Given the description of an element on the screen output the (x, y) to click on. 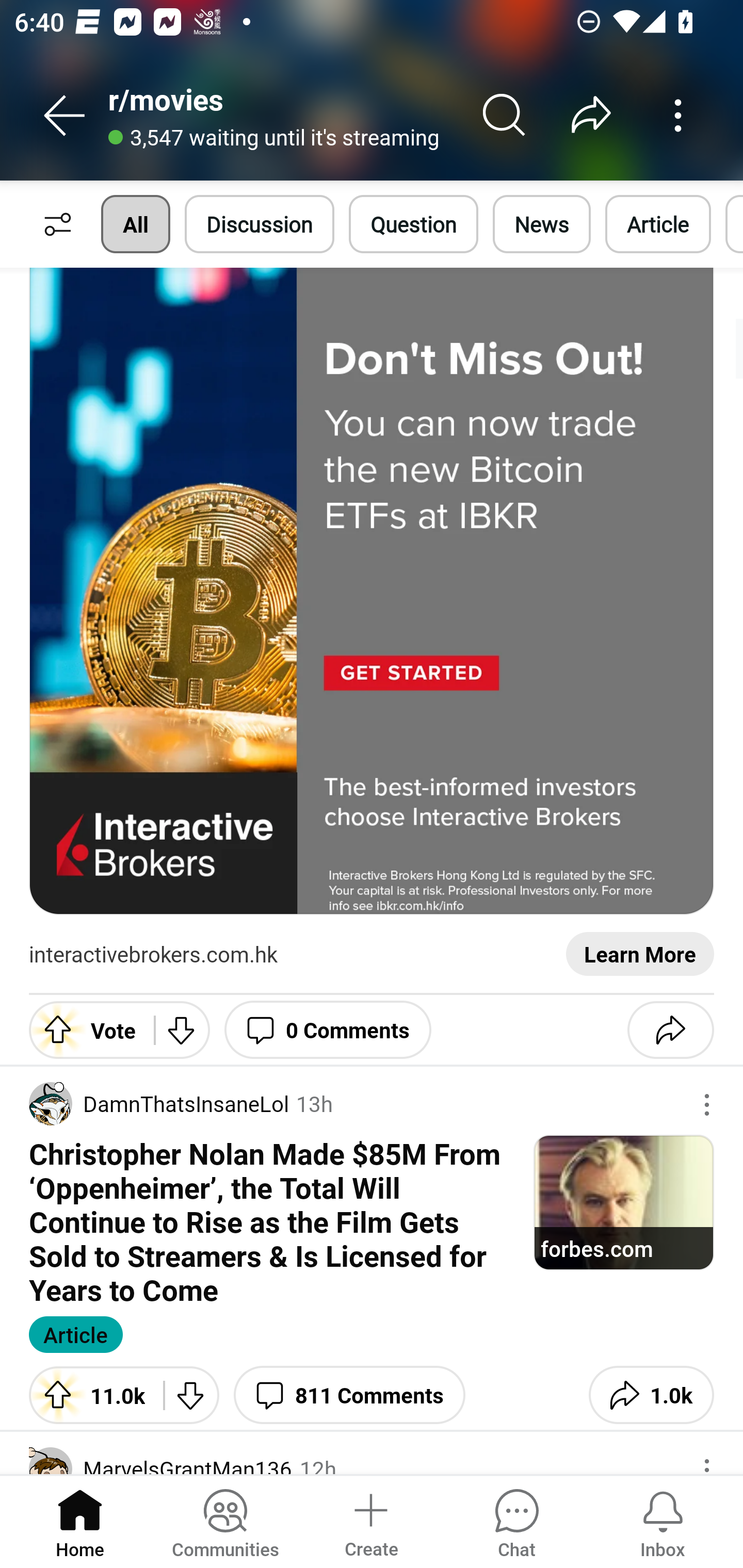
Back (64, 115)
Search r/﻿movies (504, 115)
Share r/﻿movies (591, 115)
More community actions (677, 115)
Feed Options (53, 224)
All (135, 224)
Discussion (259, 224)
Question (413, 224)
News (541, 224)
Article (658, 224)
Image (371, 591)
interactivebrokers.com.hk (152, 955)
Learn More (640, 955)
Upvote Vote (83, 1029)
Downvote (181, 1029)
0 Comments (327, 1029)
Share (670, 1029)
Author DamnThatsInsaneLol (158, 1102)
Thumbnail image forbes.com (623, 1202)
Article (75, 1334)
Upvote 11.0k (88, 1394)
Downvote (191, 1394)
811 Comments (349, 1394)
Share 1.0k (651, 1394)
Home (80, 1520)
Communities (225, 1520)
Create a post Create (370, 1520)
Chat (516, 1520)
Inbox (662, 1520)
